Given the description of an element on the screen output the (x, y) to click on. 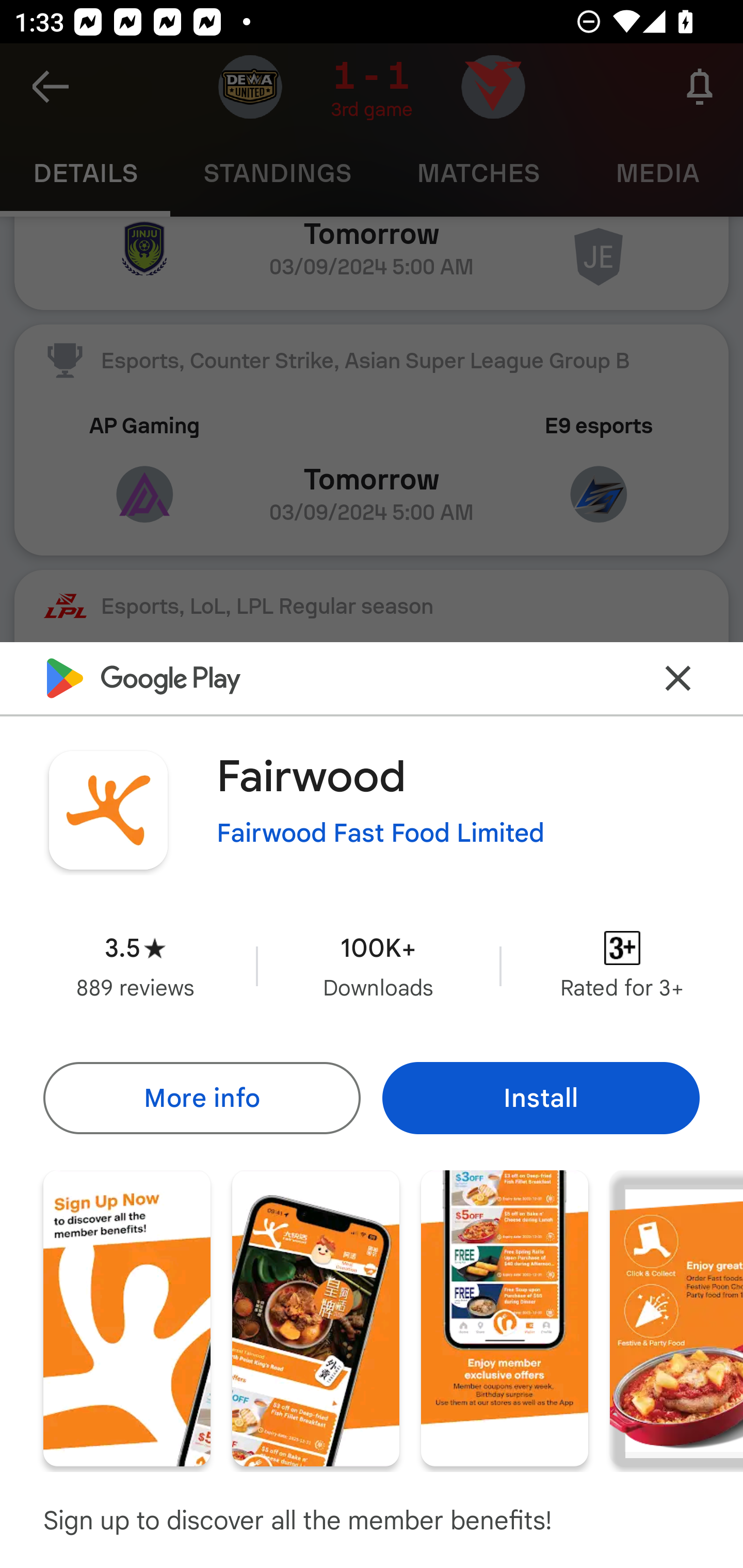
Close (677, 678)
Image of app or game icon for Fairwood (108, 809)
Fairwood Fast Food Limited (380, 832)
More info (201, 1097)
Install (540, 1097)
Screenshot "1" of "5" (126, 1317)
Screenshot "2" of "5" (315, 1317)
Screenshot "3" of "5" (504, 1317)
Screenshot "4" of "5" (676, 1317)
